Given the description of an element on the screen output the (x, y) to click on. 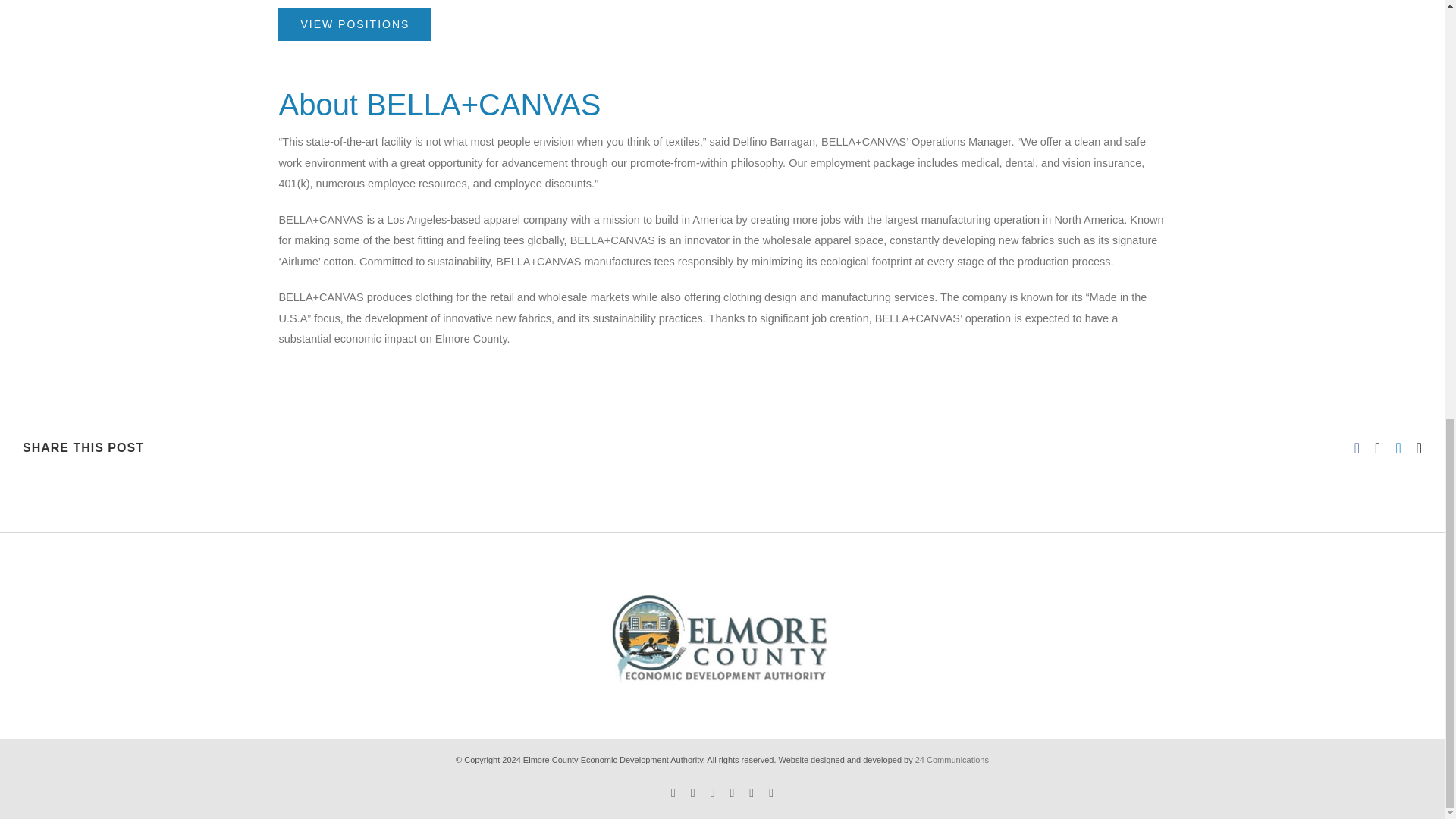
VIEW POSITIONS (354, 23)
24 Communications (951, 759)
